Given the description of an element on the screen output the (x, y) to click on. 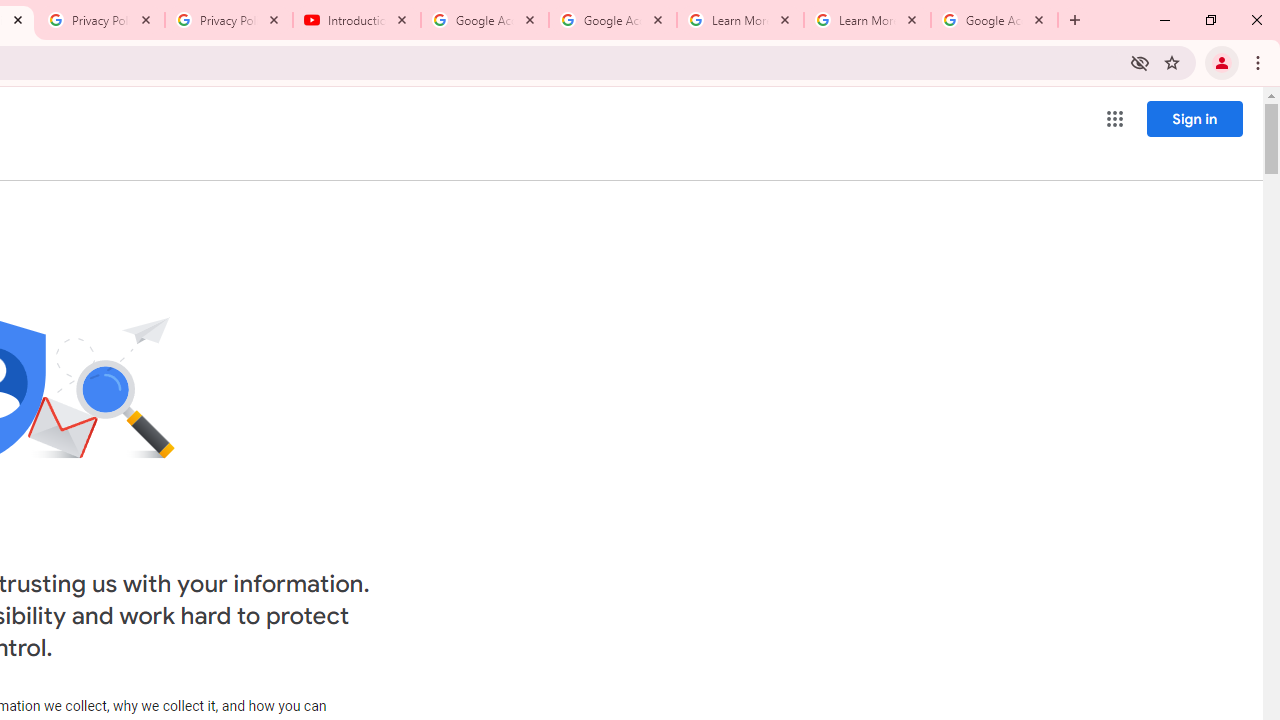
Google Account Help (613, 20)
Google Account Help (485, 20)
